Given the description of an element on the screen output the (x, y) to click on. 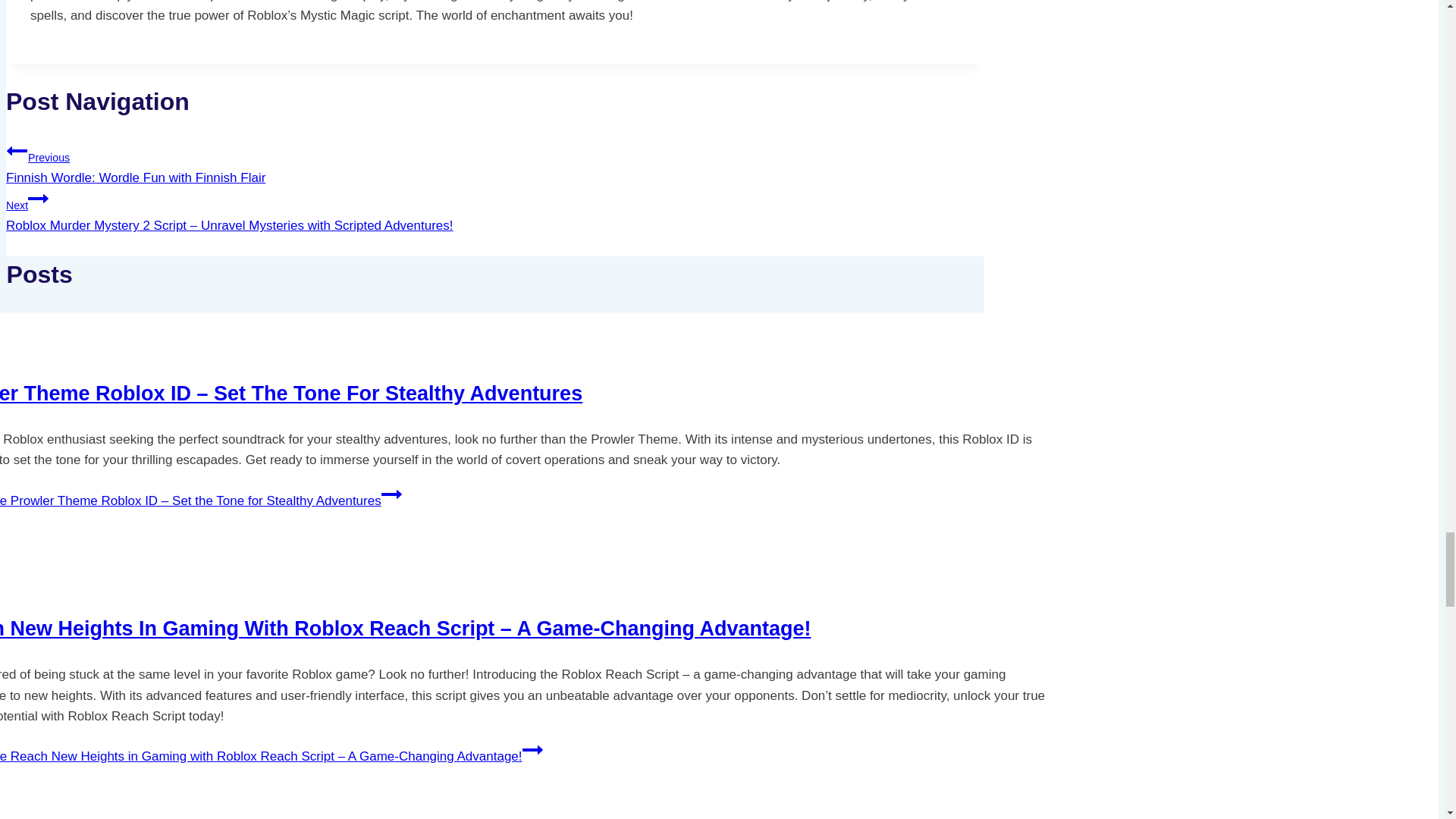
Previous (16, 150)
Continue (532, 749)
Continue (391, 494)
Continue (37, 198)
